Given the description of an element on the screen output the (x, y) to click on. 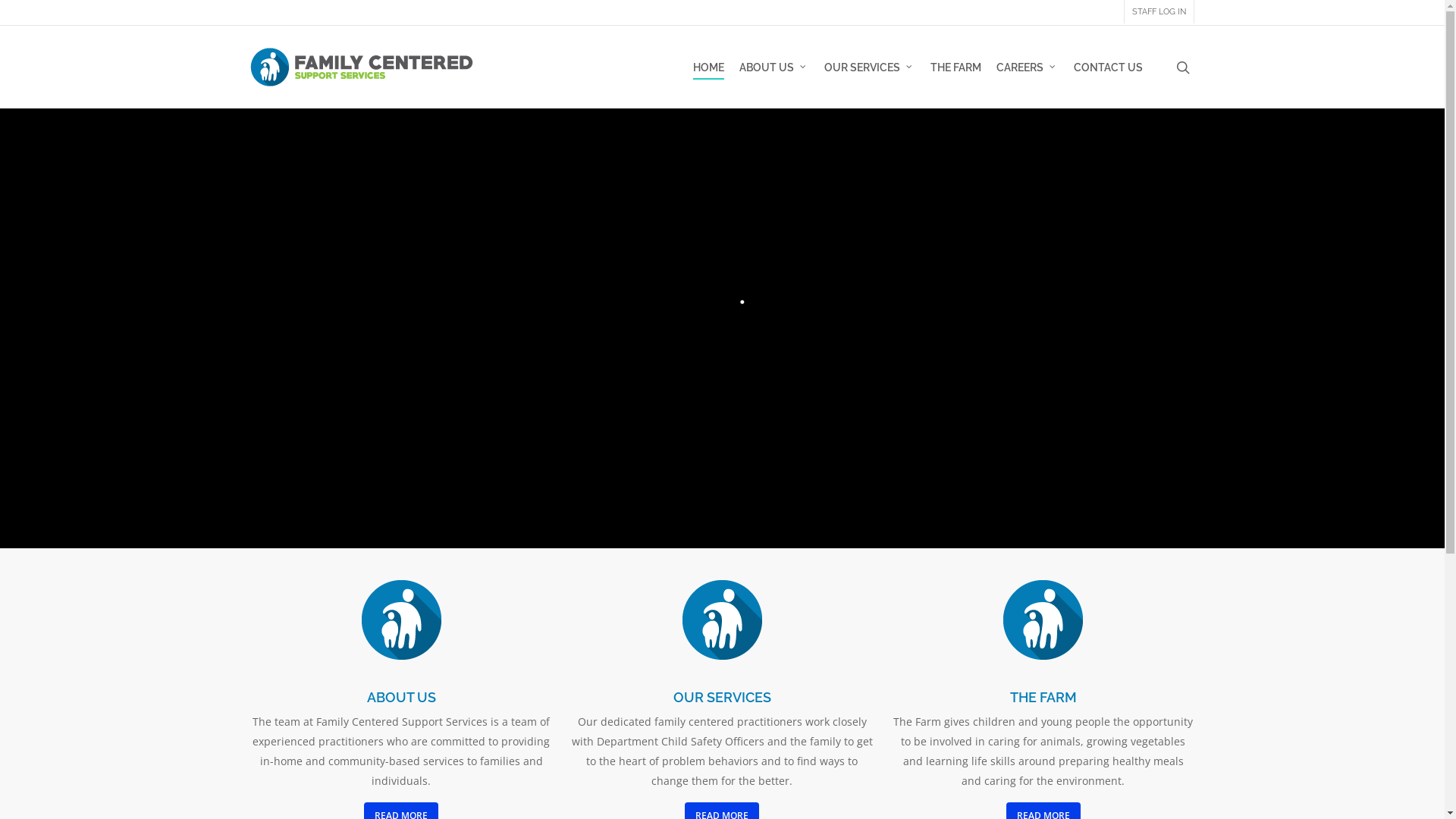
CAREERS Element type: text (1027, 66)
0 Element type: text (1210, 73)
THE FARM Element type: text (955, 66)
ABOUT US Element type: text (774, 66)
HOME Element type: text (708, 66)
STAFF LOG IN Element type: text (1158, 11)
CONTACT US Element type: text (1107, 66)
OUR SERVICES Element type: text (869, 66)
